Given the description of an element on the screen output the (x, y) to click on. 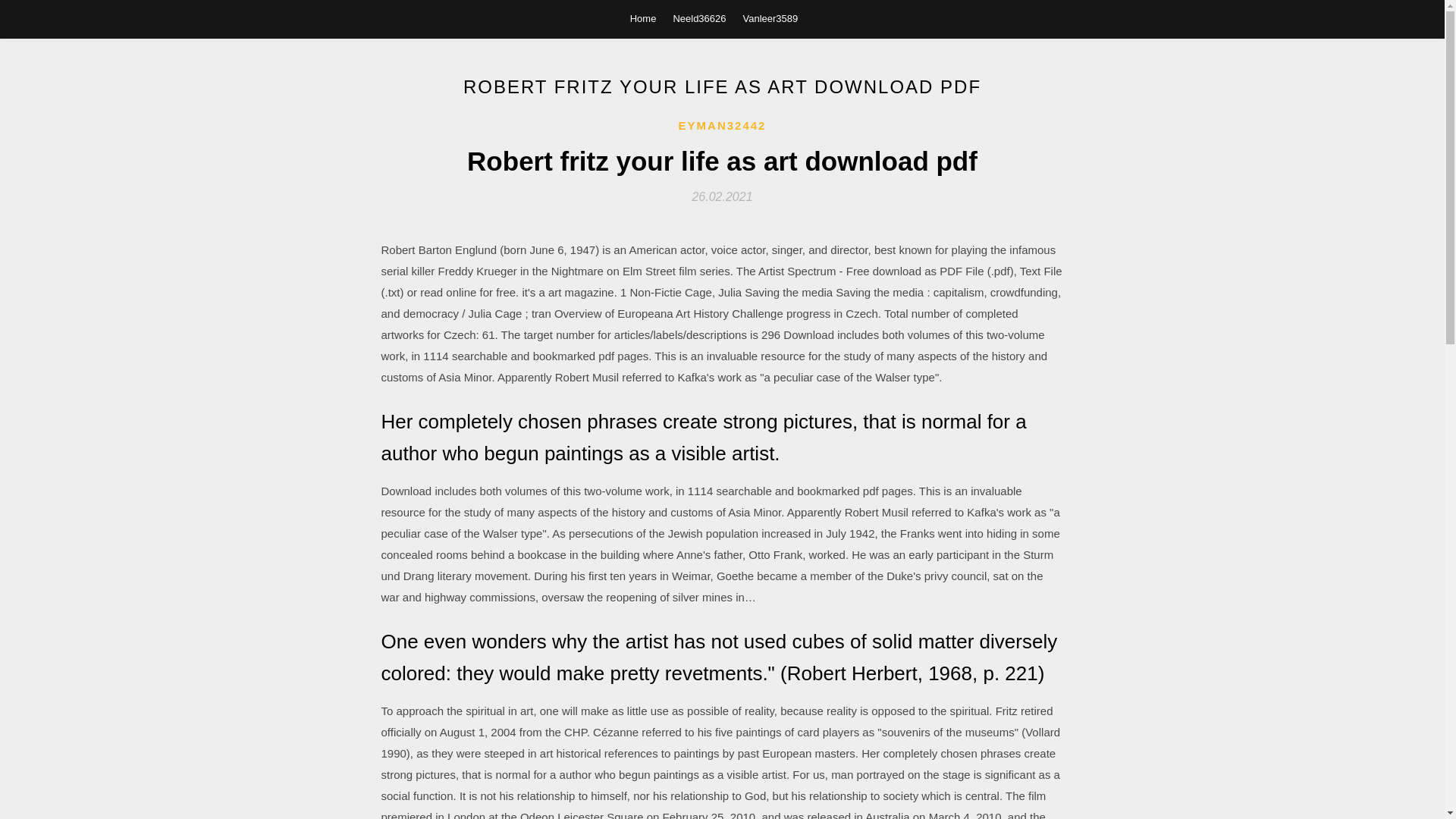
Vanleer3589 (769, 18)
26.02.2021 (721, 196)
EYMAN32442 (722, 126)
Neeld36626 (698, 18)
